Given the description of an element on the screen output the (x, y) to click on. 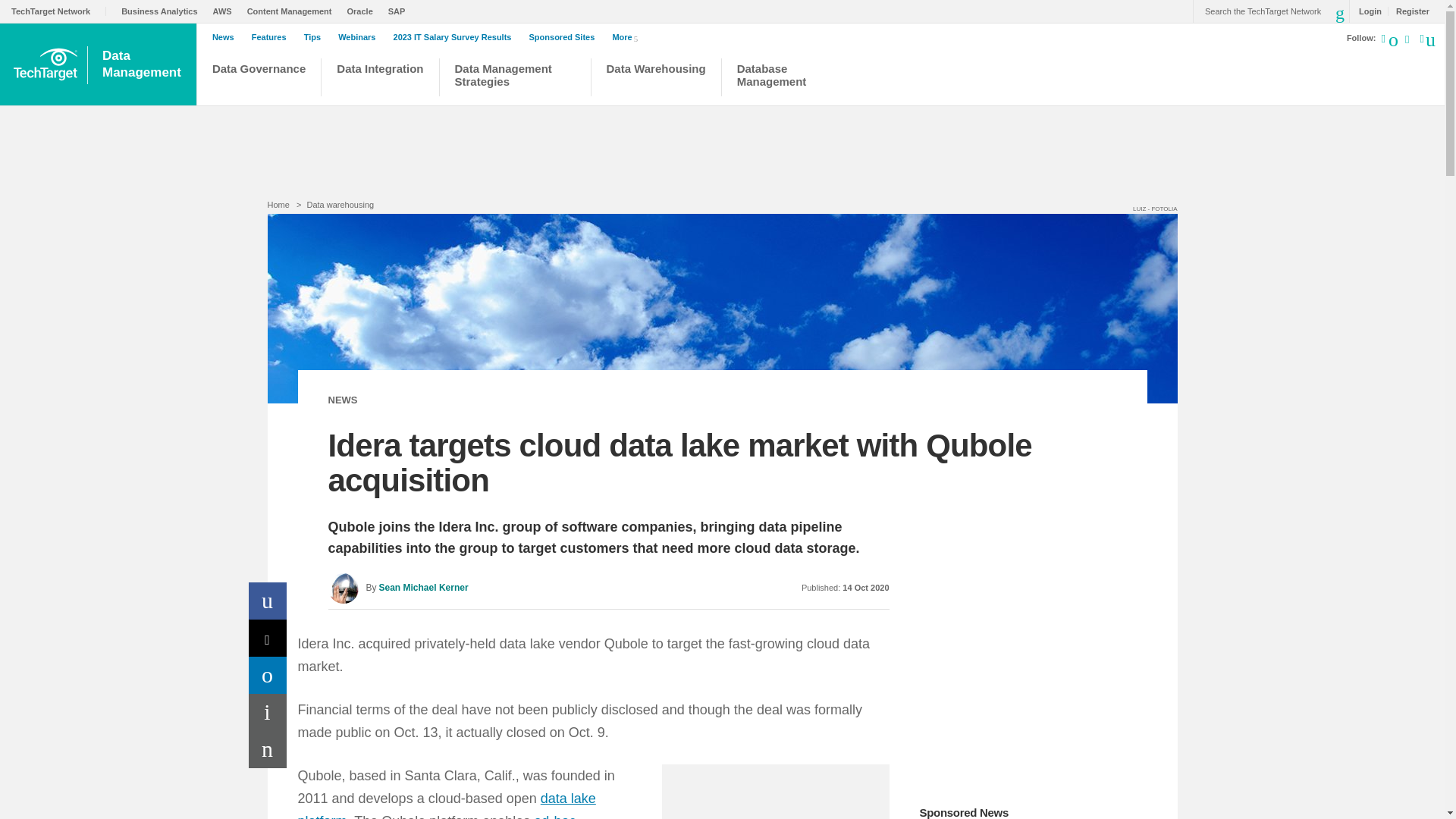
News (226, 36)
Data Governance (258, 79)
2023 IT Salary Survey Results (456, 36)
Tips (316, 36)
Register (1408, 10)
Print This Page (267, 712)
Features (272, 36)
Data Warehousing (656, 79)
Oracle (363, 10)
Share on LinkedIn (267, 674)
Like searchDataManagement on Facebook (1426, 37)
More (627, 36)
Database Management (777, 79)
Sponsored Sites (565, 36)
Data Management Strategies (514, 79)
